Given the description of an element on the screen output the (x, y) to click on. 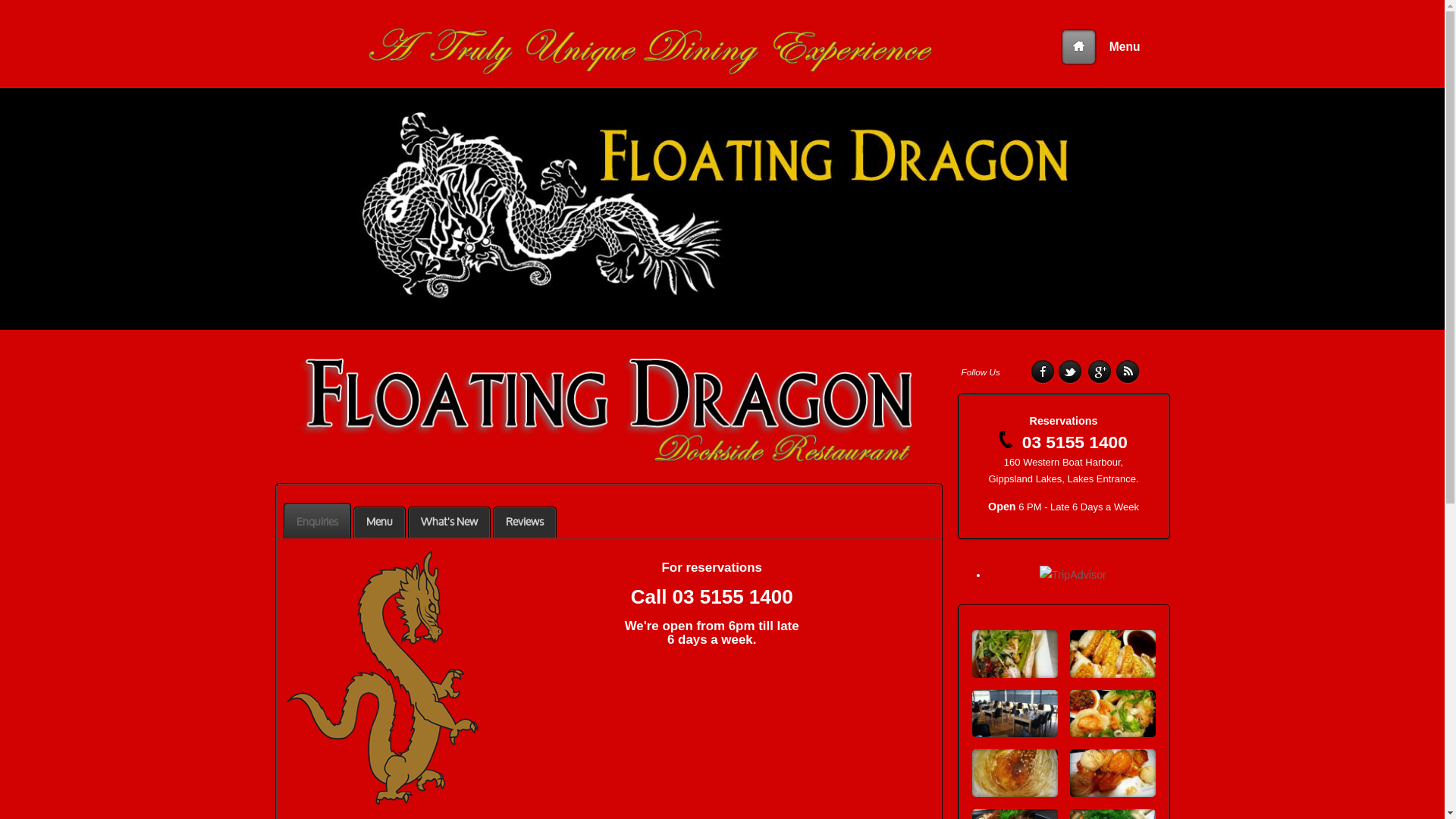
last ::  Element type: hover (1014, 653)
no3 ::  Element type: hover (1111, 773)
no6 ::  Element type: hover (1014, 713)
5thlast ::  Element type: hover (1111, 653)
no5 ::  Element type: hover (1111, 713)
no4 ::  Element type: hover (1014, 773)
Menu Element type: text (1124, 46)
